Given the description of an element on the screen output the (x, y) to click on. 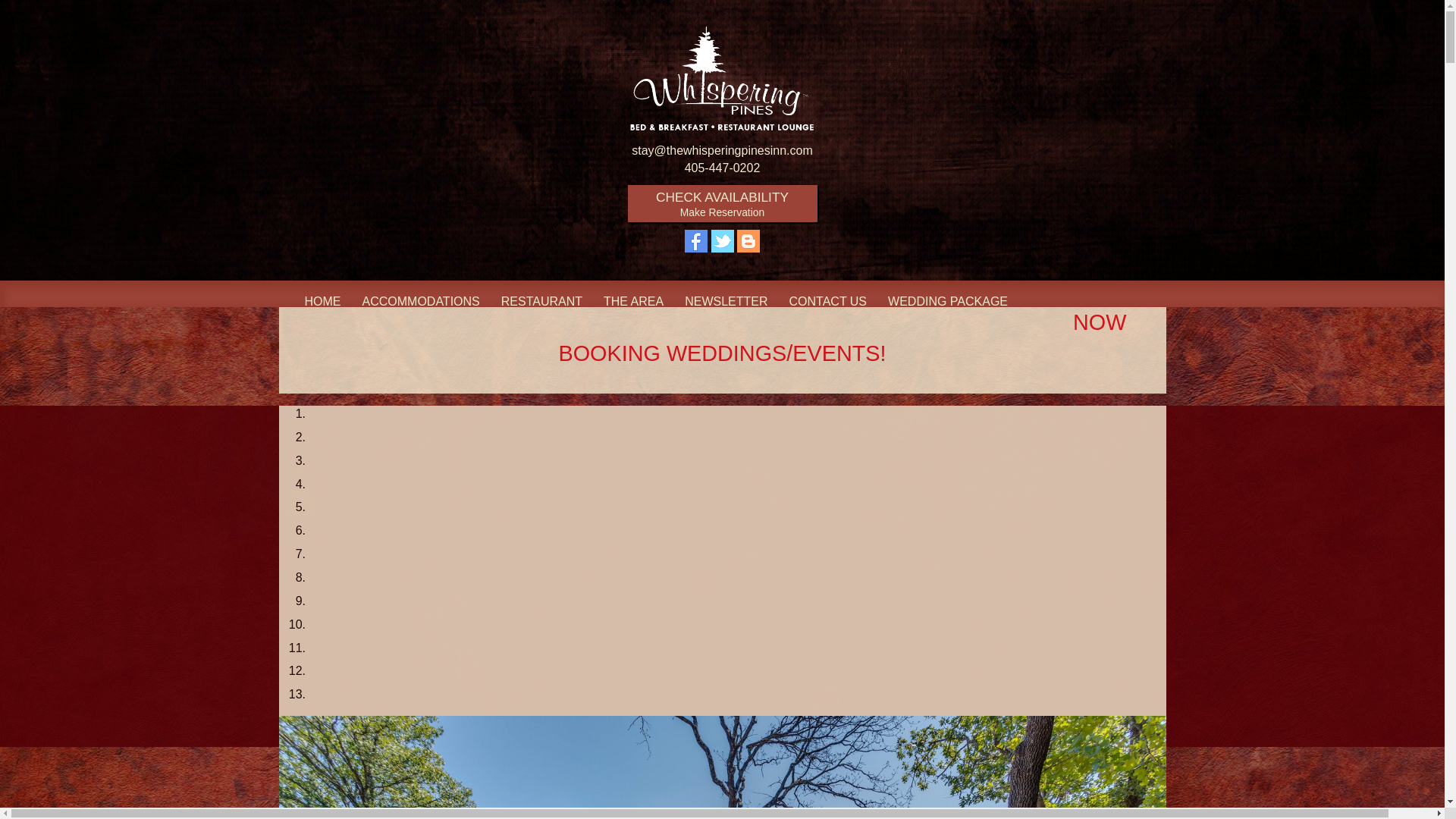
THE AREA (633, 301)
ACCOMMODATIONS (421, 301)
WEDDING PACKAGE (722, 204)
HOME (947, 301)
RESTAURANT (323, 301)
NEWSLETTER (541, 301)
CONTACT US (725, 301)
